Given the description of an element on the screen output the (x, y) to click on. 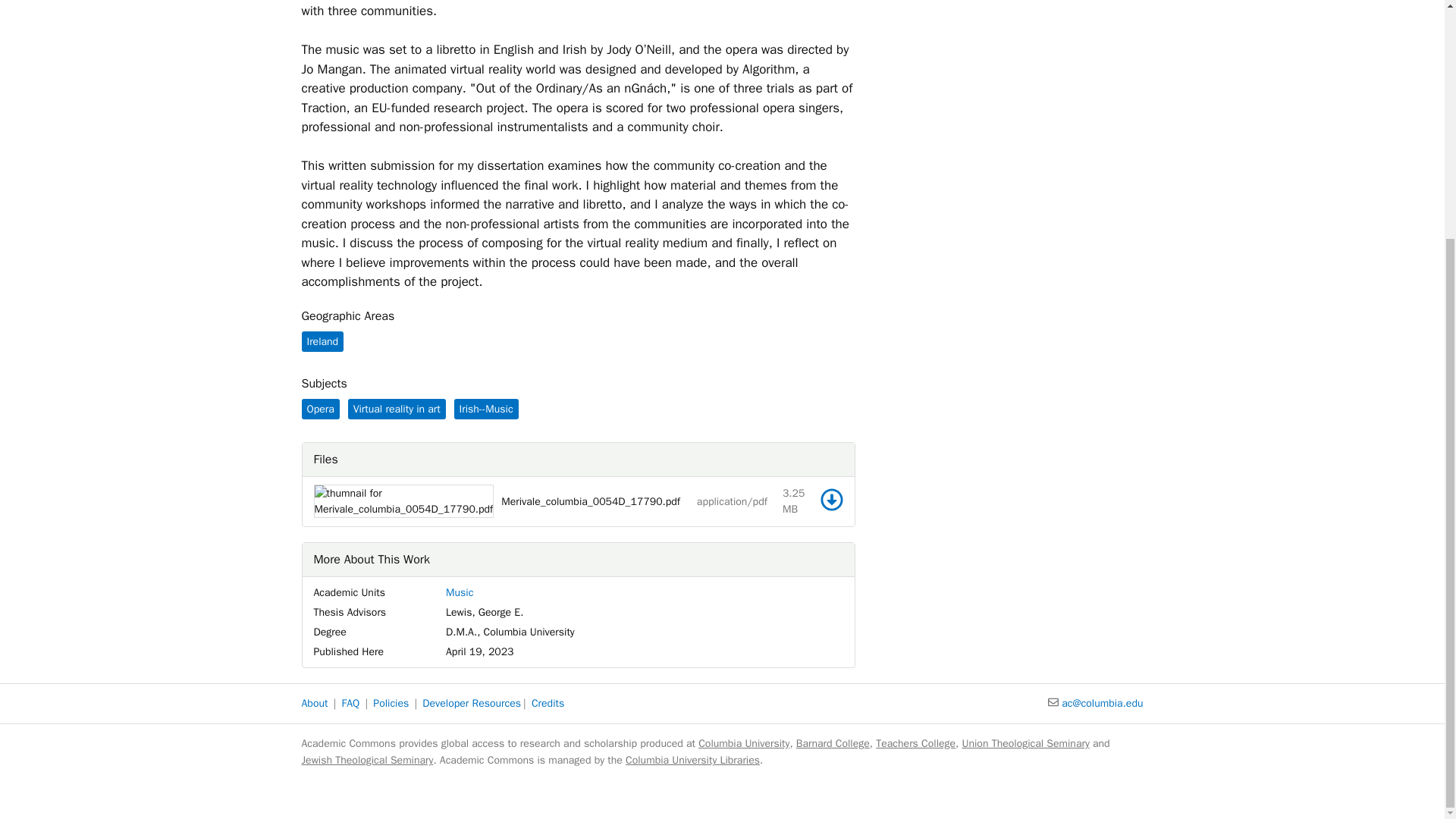
Opera (320, 408)
Barnard College (832, 743)
FAQ (349, 703)
Union Theological Seminary (1024, 743)
Policies (390, 703)
Music (459, 592)
Jewish Theological Seminary (367, 759)
Virtual reality in art (396, 408)
Columbia University (743, 743)
Developer Resources (471, 703)
